Given the description of an element on the screen output the (x, y) to click on. 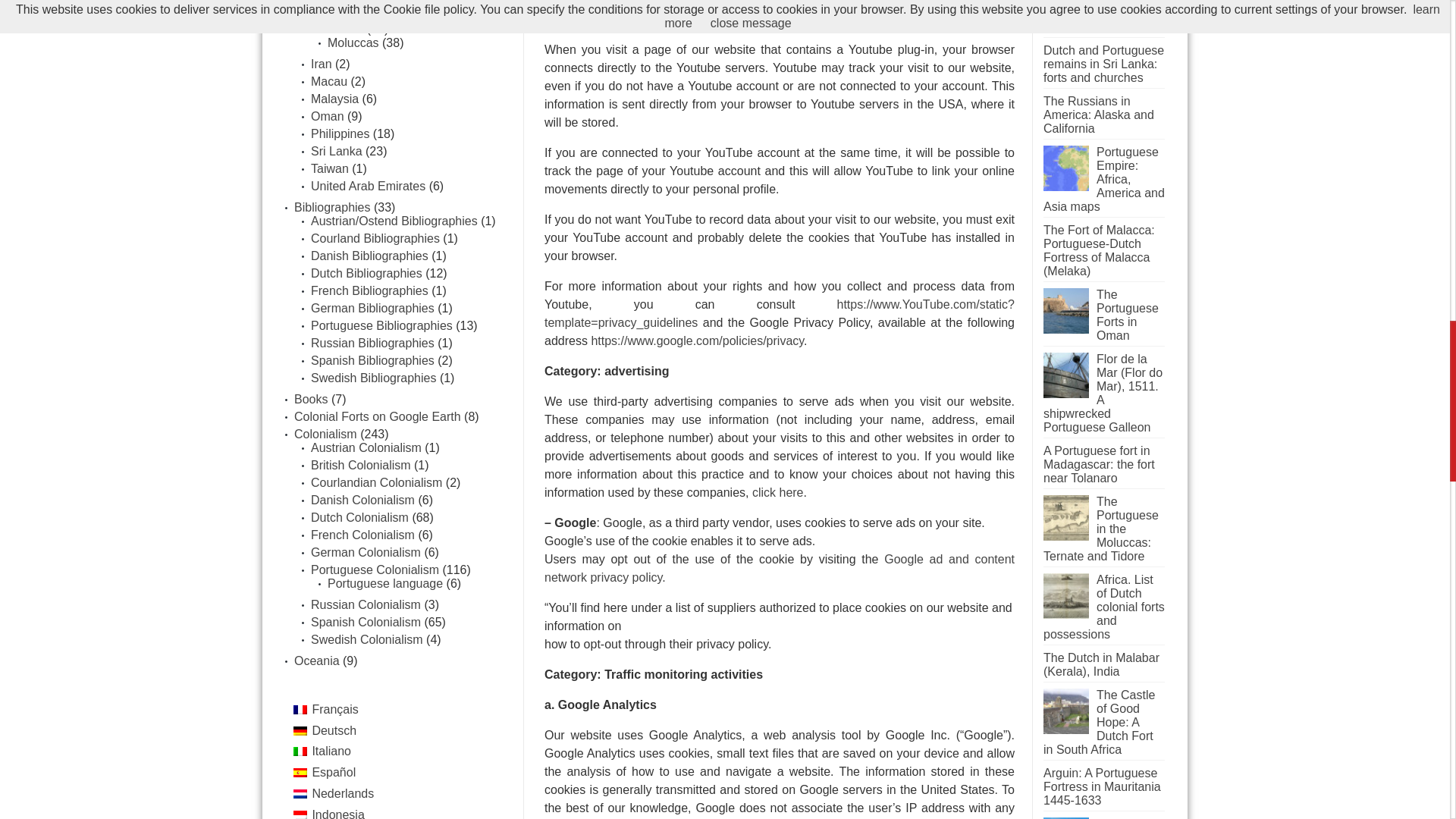
Permalink to The Portuguese Forts in Oman (1066, 328)
